Given the description of an element on the screen output the (x, y) to click on. 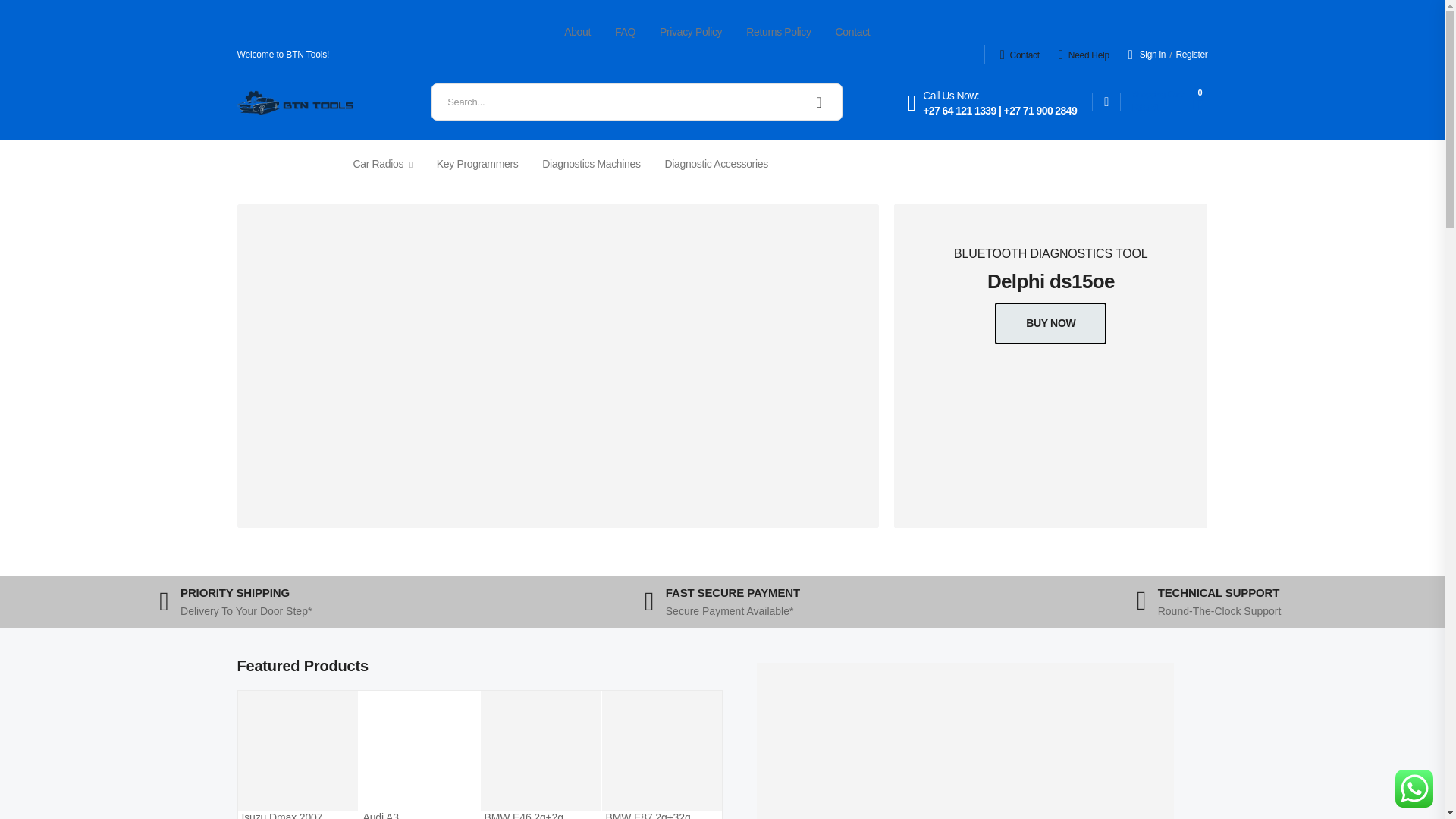
Diagnostic Accessories (716, 163)
About (577, 31)
Contact (852, 31)
Diagnostics Machines (590, 163)
Privacy Policy (1165, 102)
BTN Tools - Vehicle Diagnostic Tools (690, 31)
FAQ (293, 102)
Contact (1083, 55)
Need Help (1019, 55)
